Given the description of an element on the screen output the (x, y) to click on. 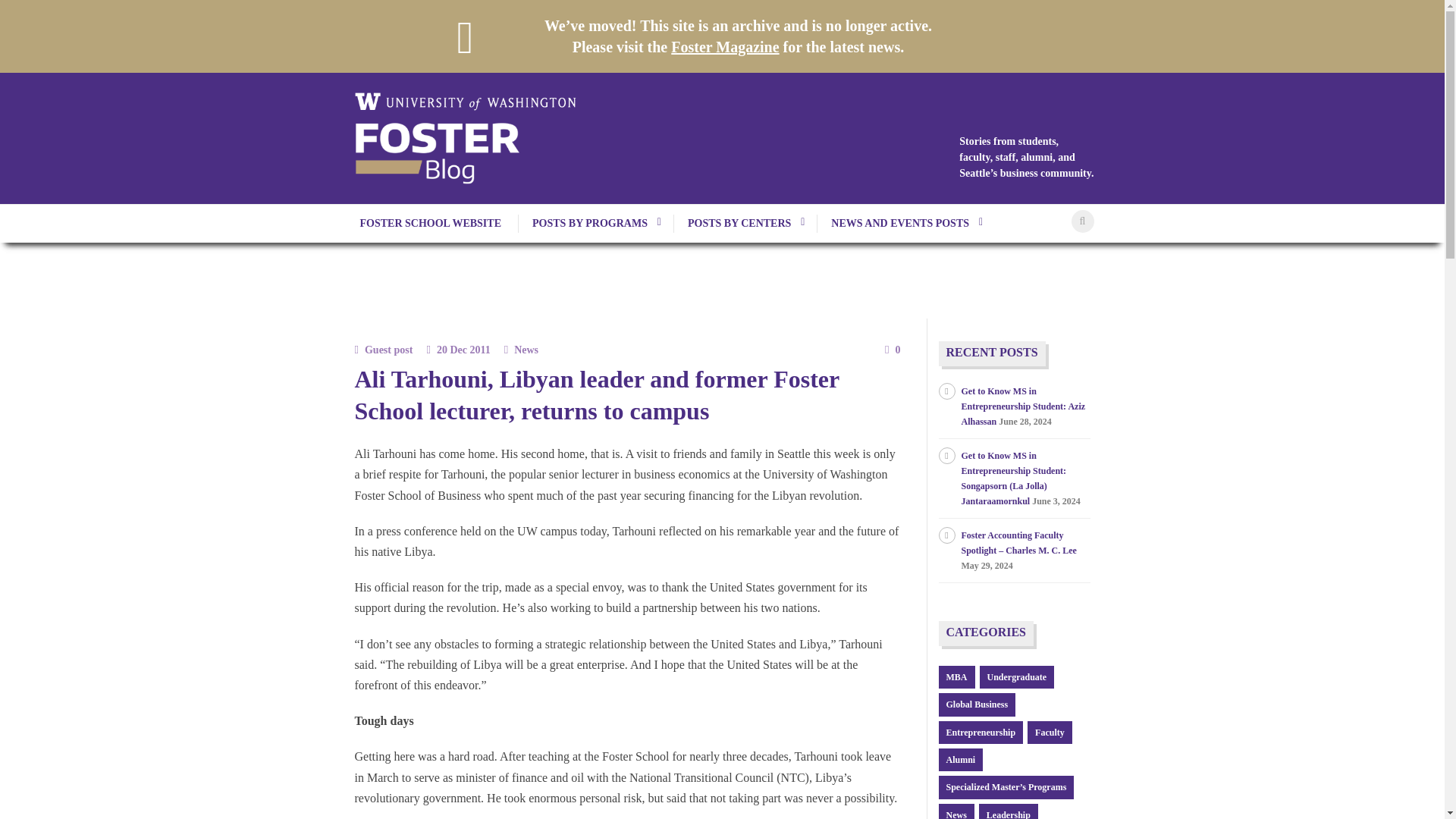
Posts by Guest post (388, 349)
